Given the description of an element on the screen output the (x, y) to click on. 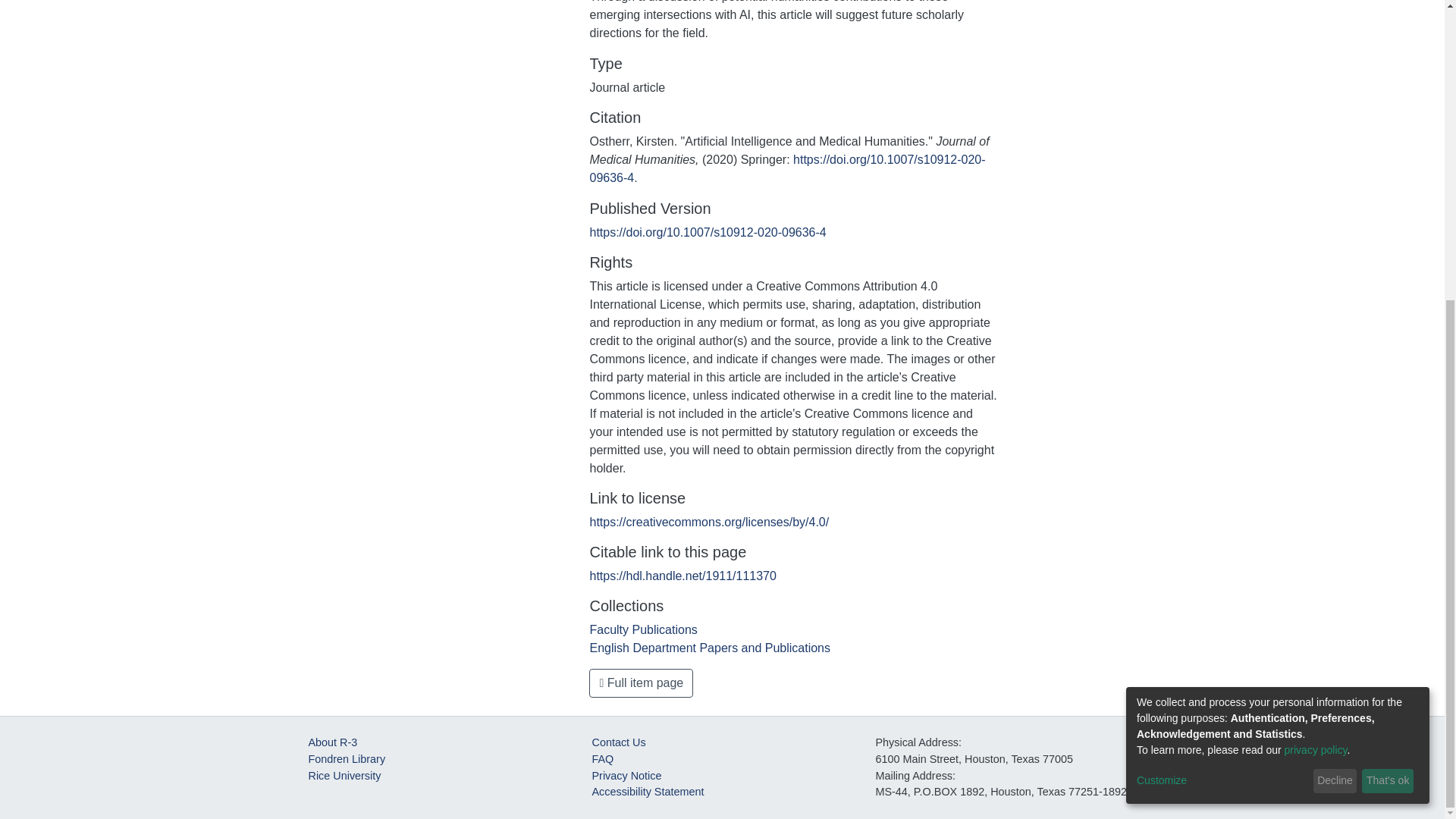
Privacy Notice (626, 775)
FAQ (601, 758)
English Department Papers and Publications (709, 647)
About R-3 (331, 742)
Decline (1334, 315)
Customize (1222, 314)
privacy policy (1316, 284)
Accessibility Statement (647, 791)
Rice University (343, 775)
Contact Us (618, 742)
That's ok (1387, 315)
Faculty Publications (643, 629)
Full item page (641, 683)
Fondren Library (346, 758)
